Given the description of an element on the screen output the (x, y) to click on. 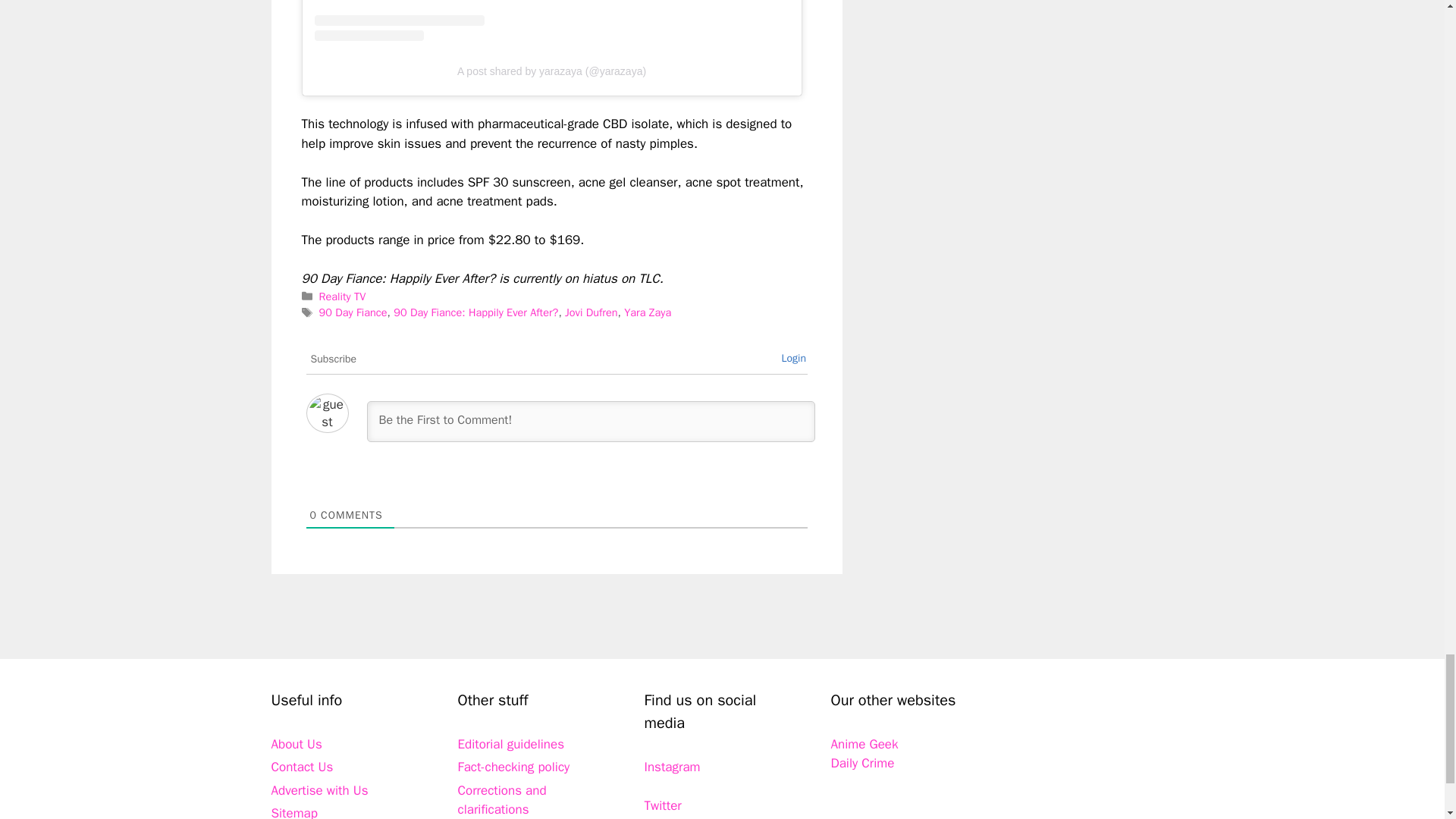
90 Day Fiance (352, 312)
Login (793, 358)
View this post on Instagram (551, 20)
Jovi Dufren (590, 312)
Advertise with Us (319, 790)
Reality TV (342, 296)
Sitemap (293, 812)
About Us (295, 744)
Yara Zaya (647, 312)
90 Day Fiance: Happily Ever After? (475, 312)
